Given the description of an element on the screen output the (x, y) to click on. 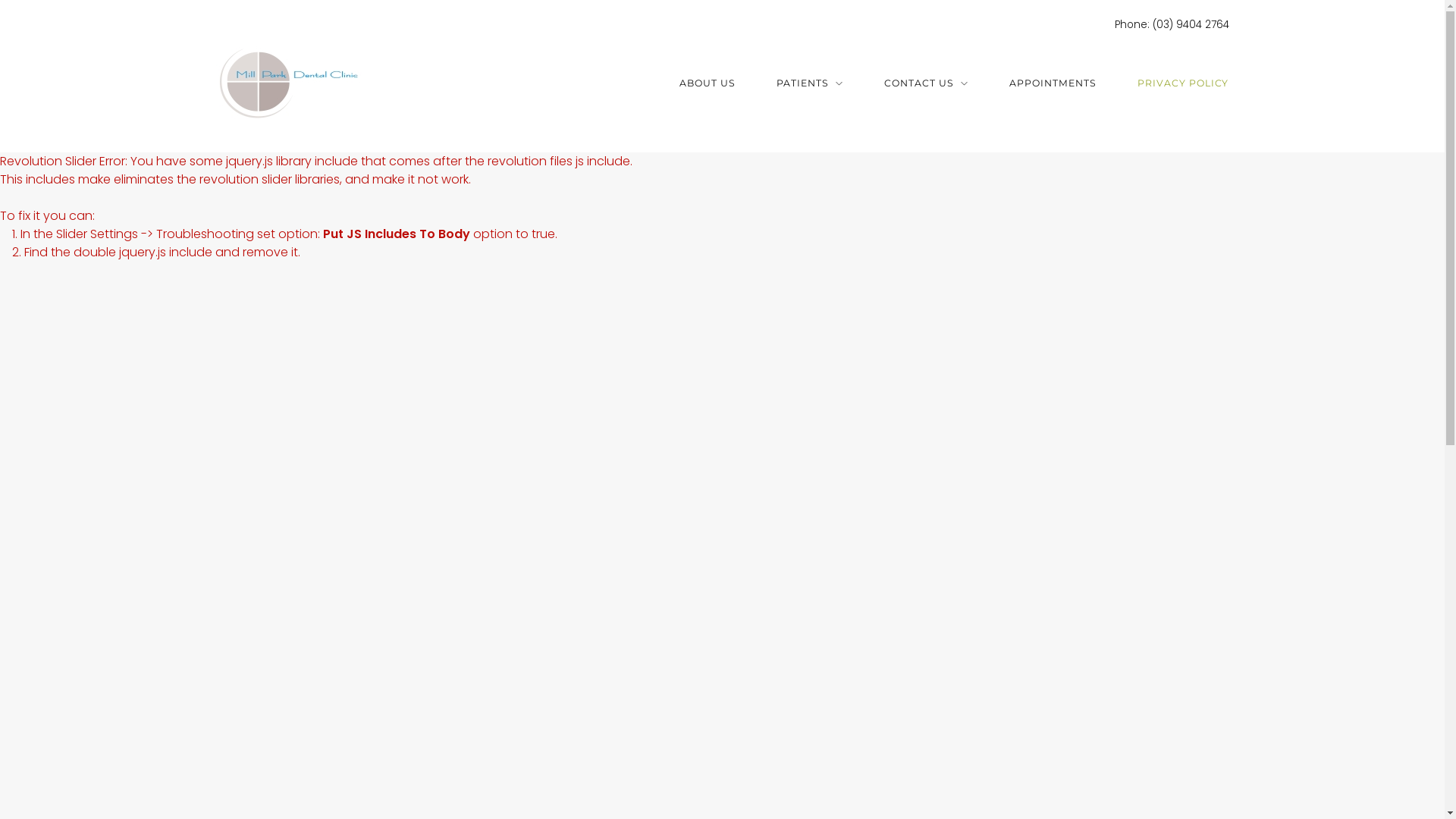
CONTACT US Element type: text (926, 83)
APPOINTMENTS Element type: text (1052, 83)
PRIVACY POLICY Element type: text (1183, 83)
PATIENTS Element type: text (809, 83)
ABOUT US Element type: text (707, 83)
